Given the description of an element on the screen output the (x, y) to click on. 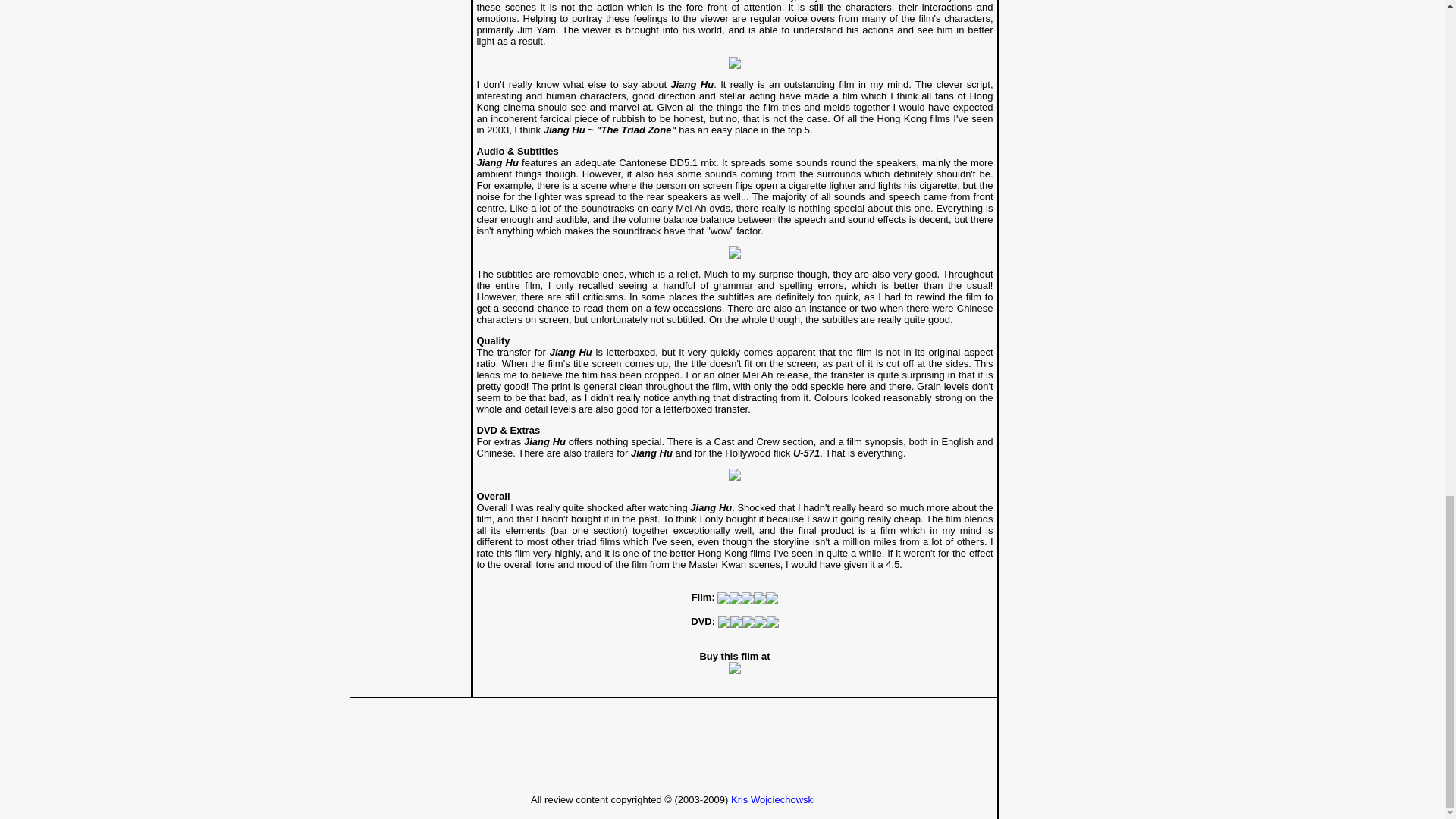
Kris Wojciechowski (772, 799)
